Given the description of an element on the screen output the (x, y) to click on. 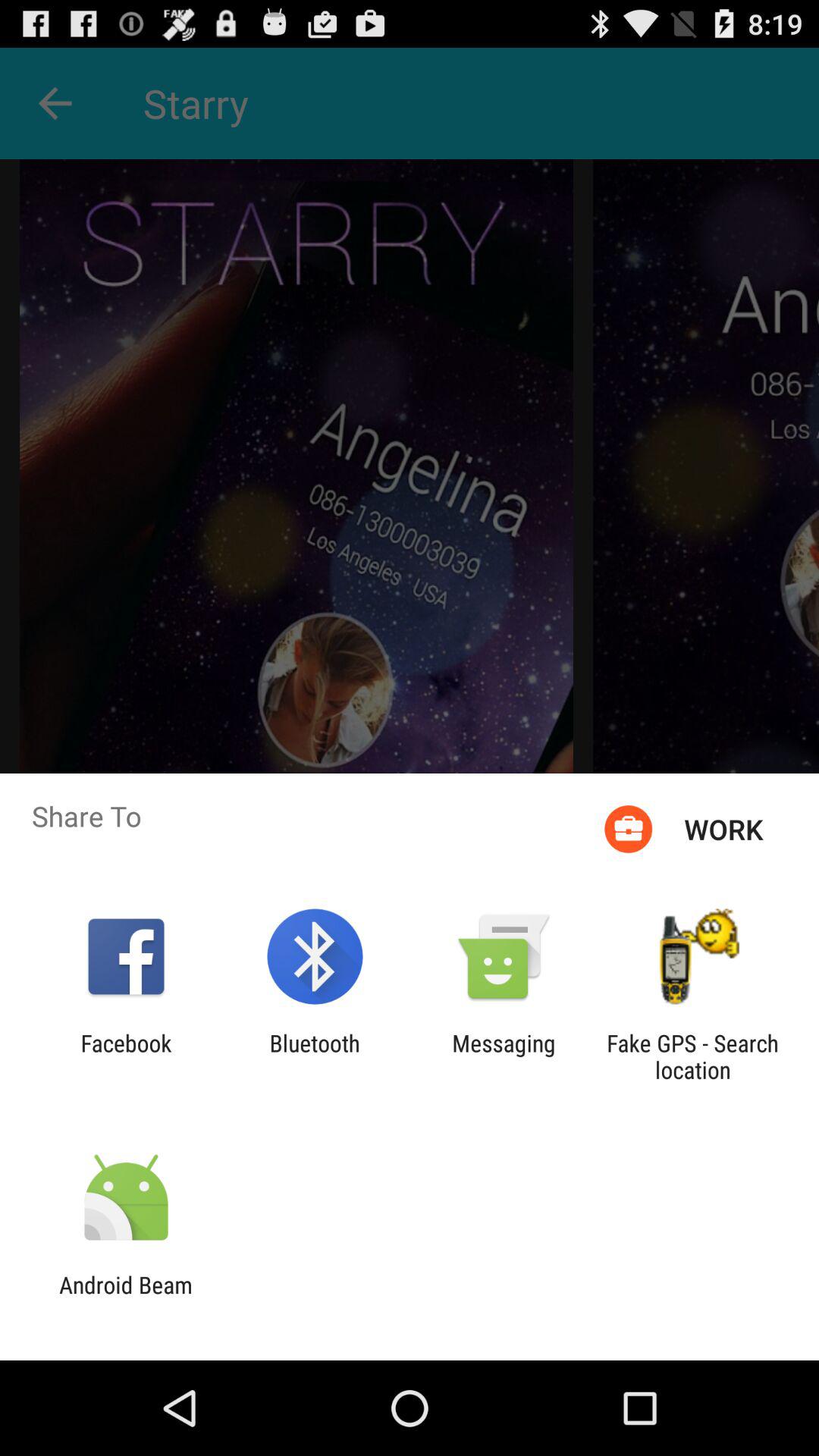
turn off icon to the right of the messaging item (692, 1056)
